Given the description of an element on the screen output the (x, y) to click on. 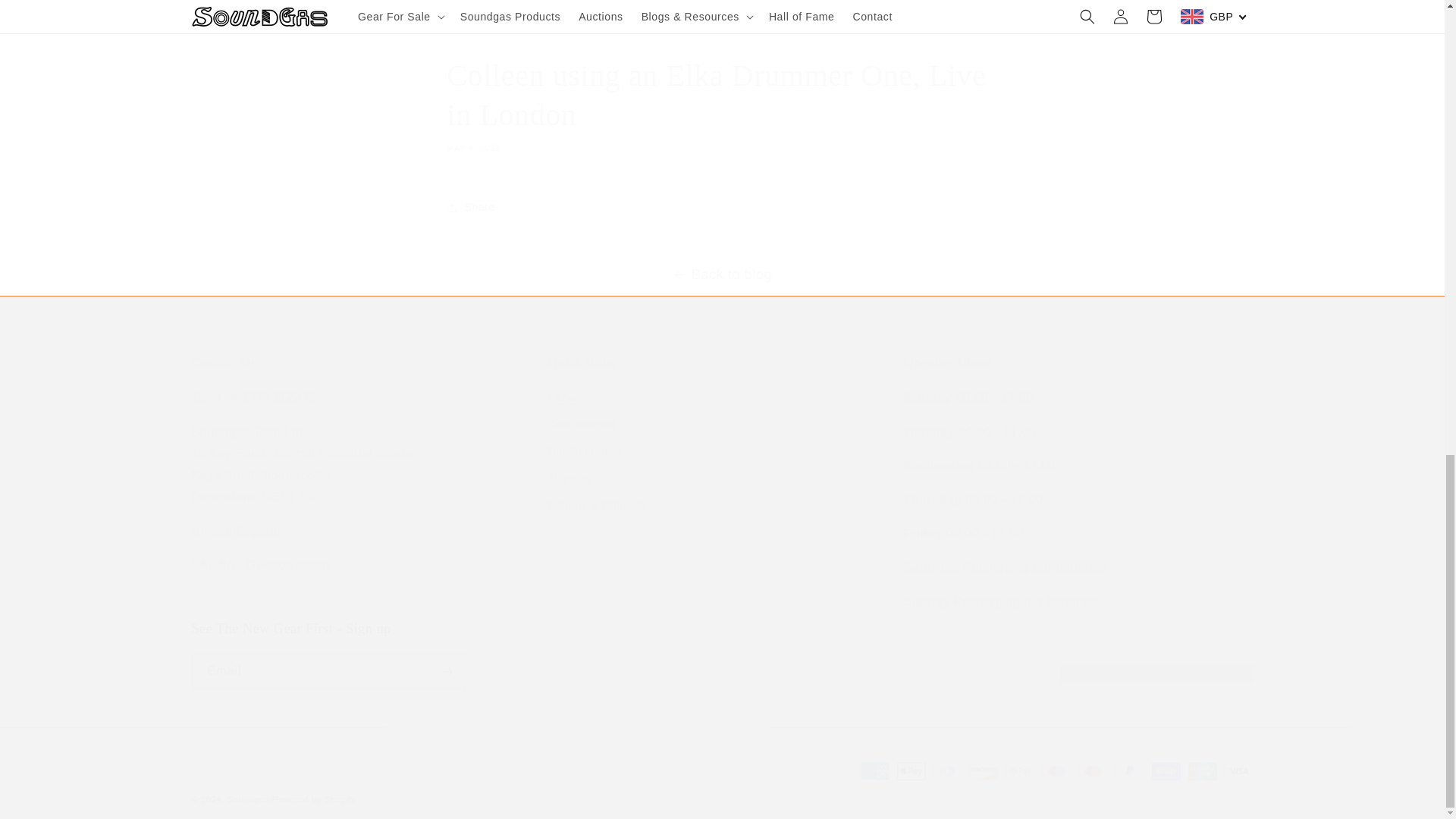
Share (721, 207)
